Given the description of an element on the screen output the (x, y) to click on. 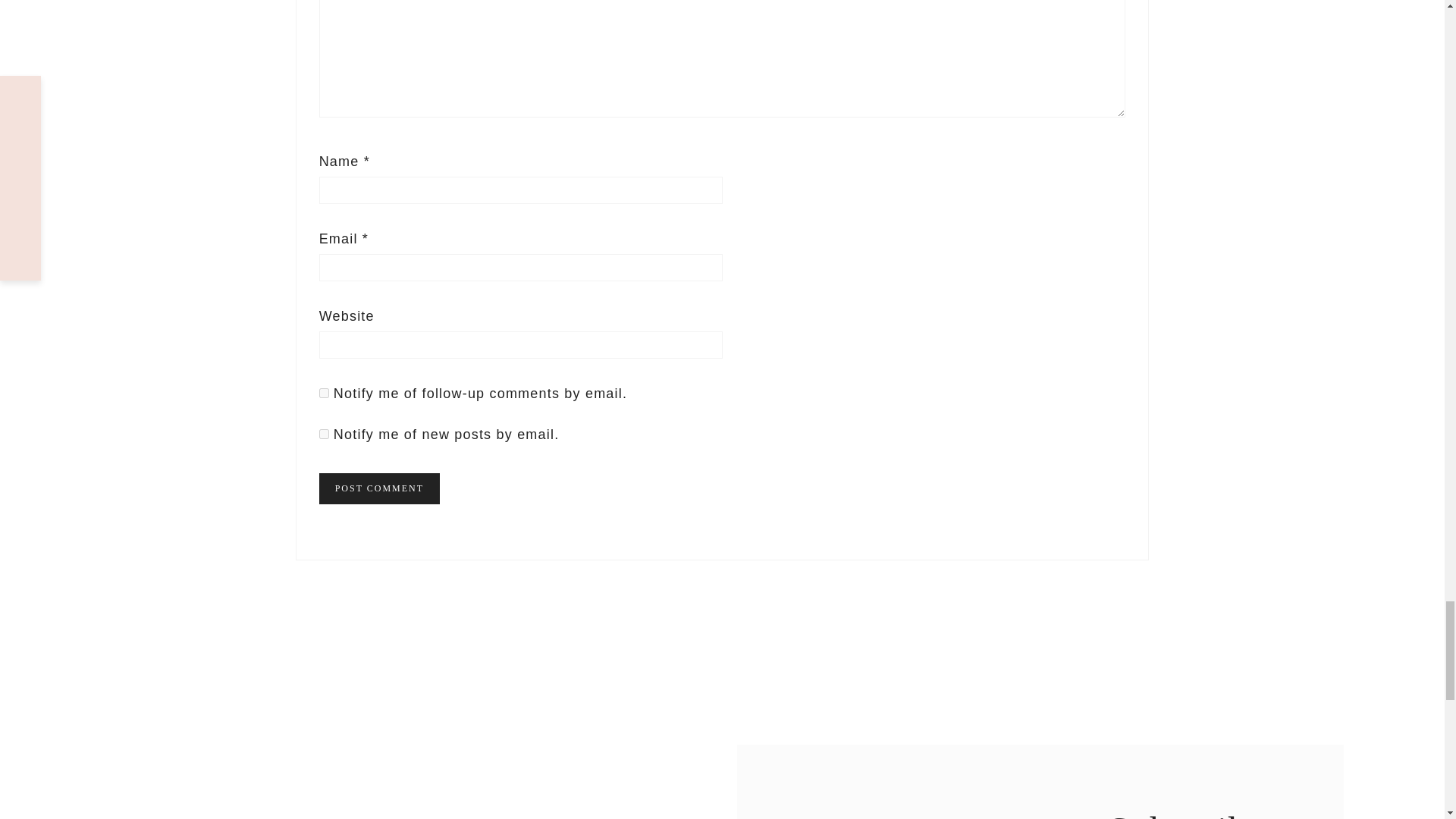
Post Comment (378, 488)
subscribe (323, 433)
subscribe (323, 393)
Post Comment (378, 488)
